Given the description of an element on the screen output the (x, y) to click on. 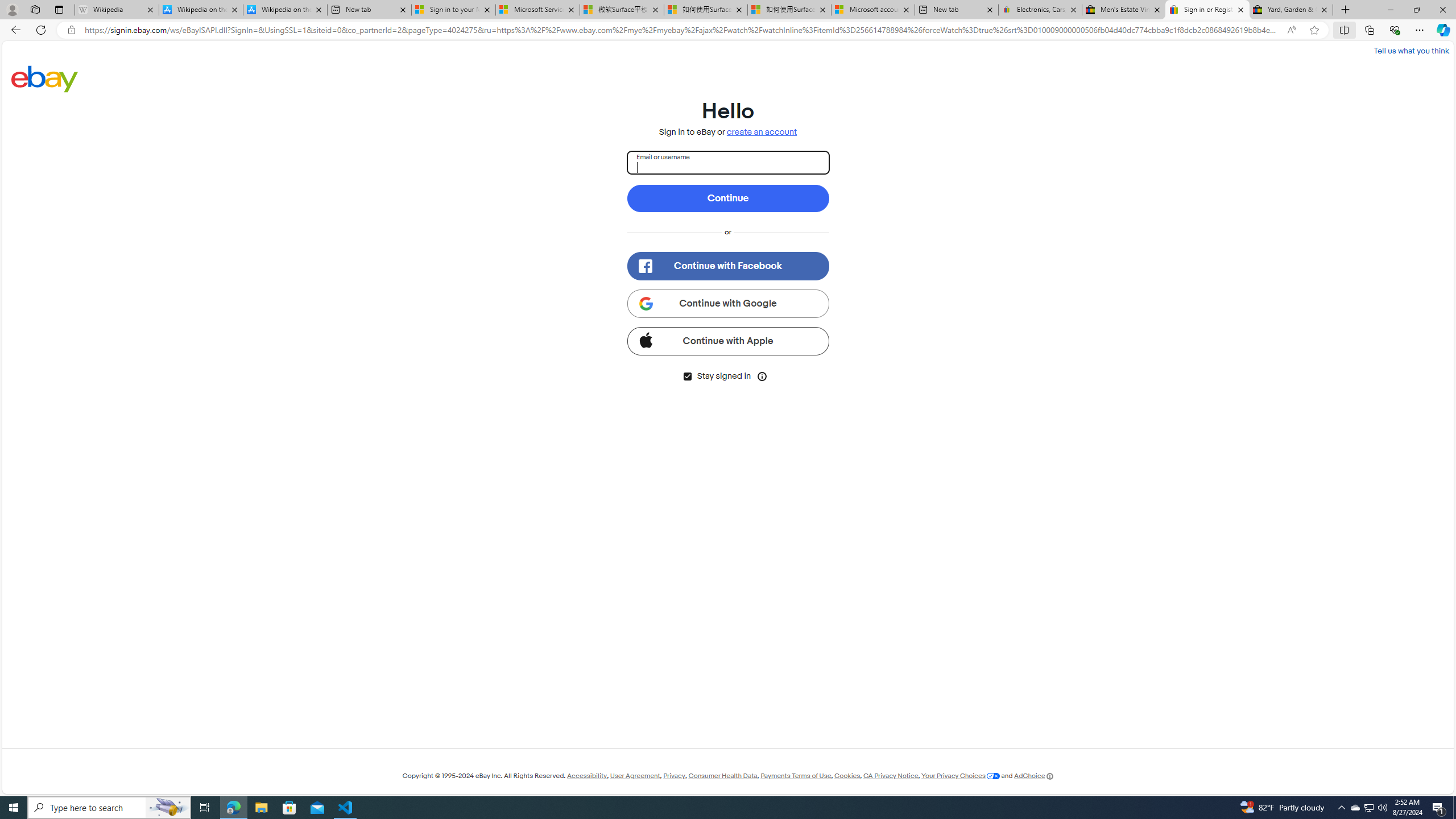
Cookies (847, 775)
eBay Home (44, 78)
AdChoice (1033, 775)
Class: apple-icon (645, 339)
create an account (761, 131)
Class: icon-btn tooltip__host icon-btn--transparent (762, 375)
eBay Home (44, 78)
Accessibility (586, 775)
